Given the description of an element on the screen output the (x, y) to click on. 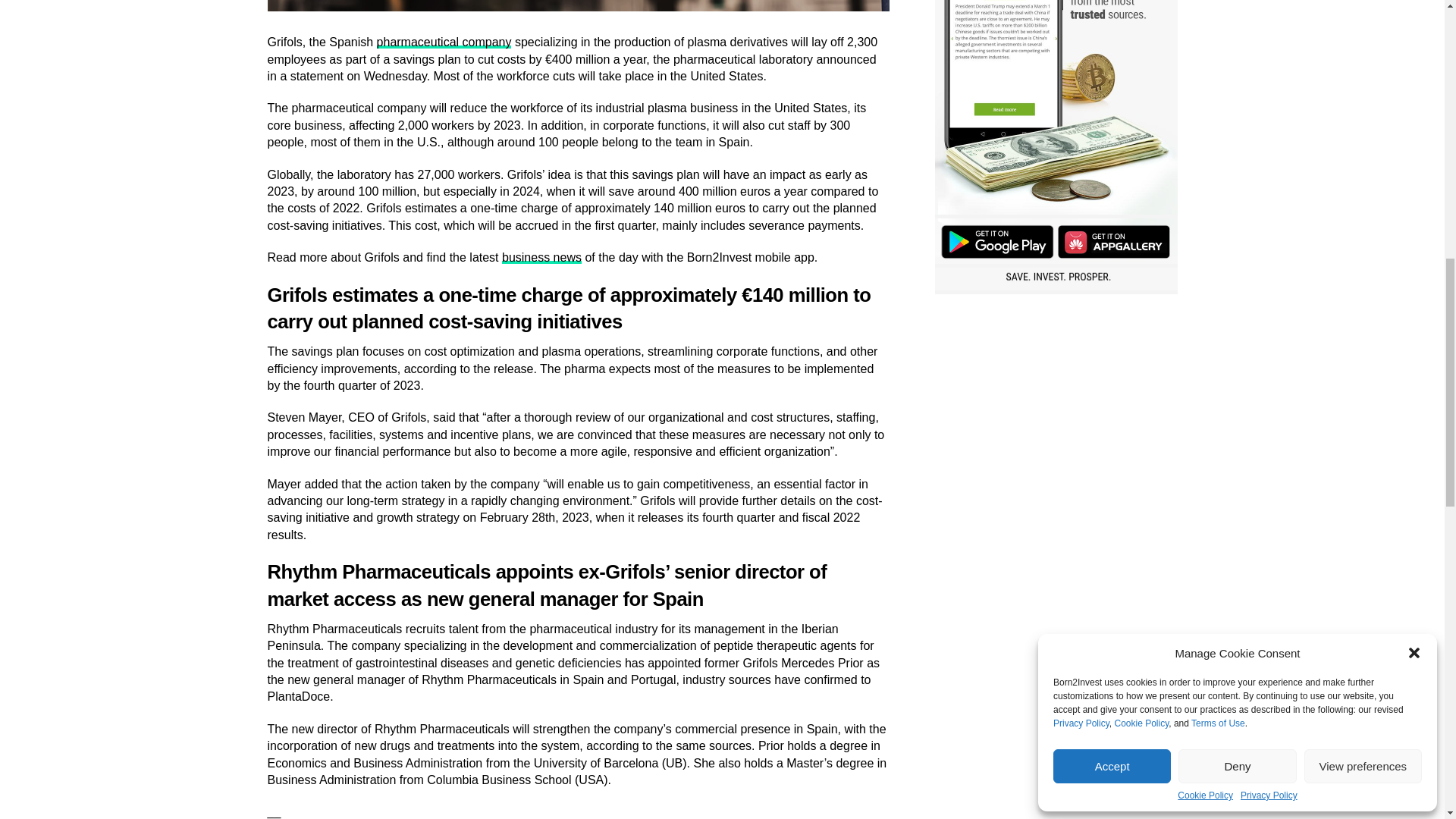
Advertisement (1055, 411)
